Given the description of an element on the screen output the (x, y) to click on. 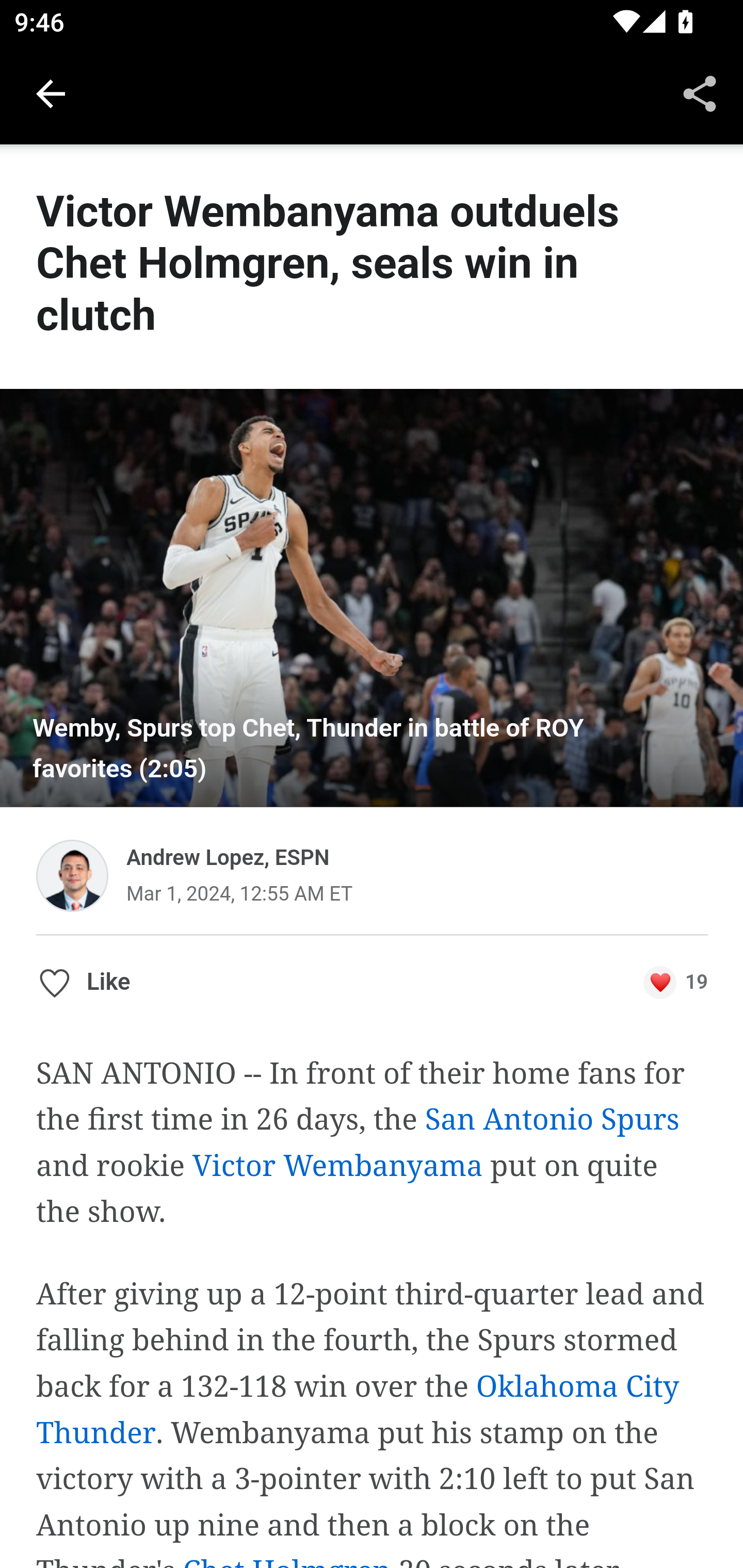
Navigate up (50, 93)
Share (699, 93)
